Given the description of an element on the screen output the (x, y) to click on. 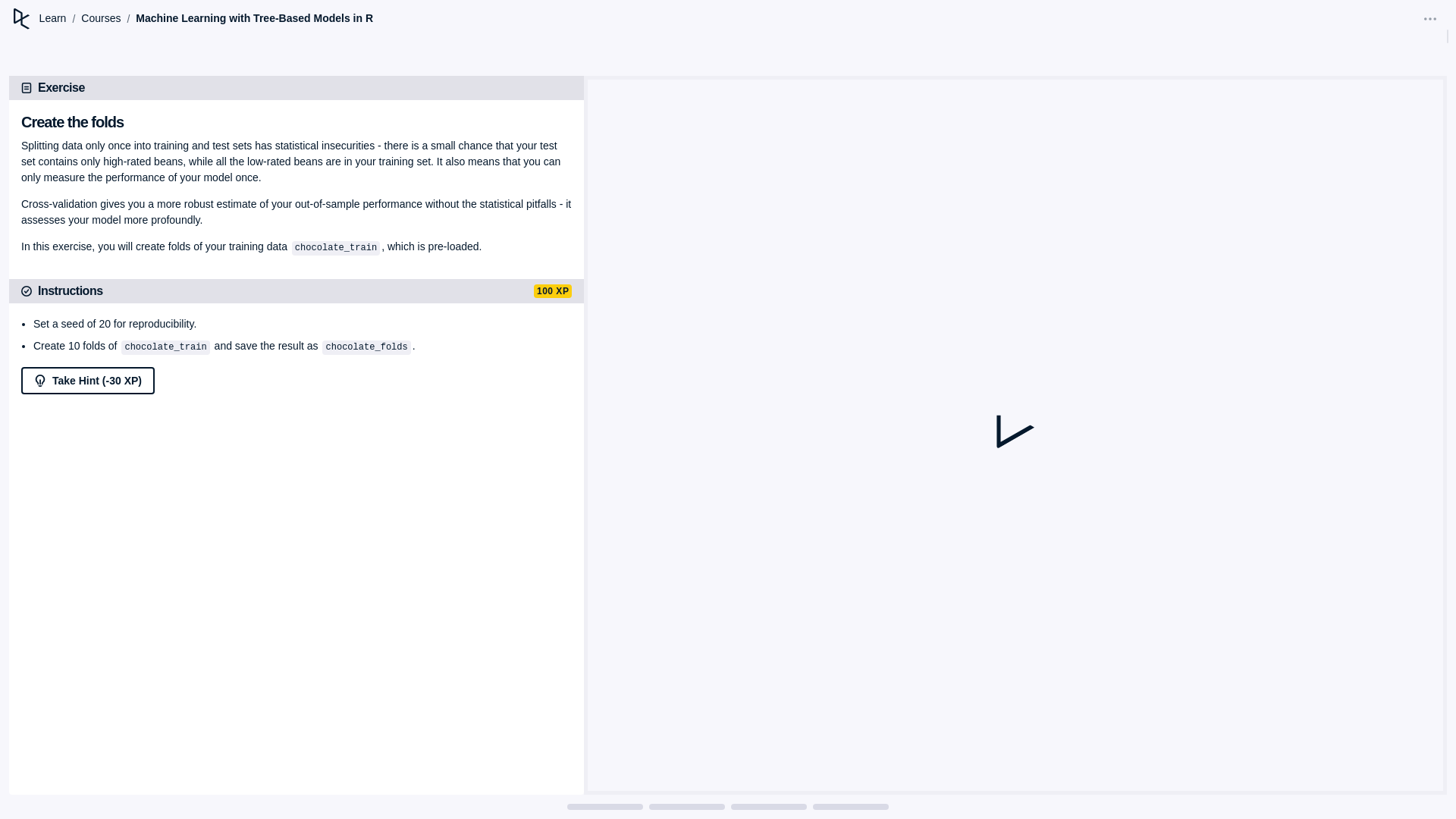
Machine Learning with Tree-Based Models in R (253, 18)
Courses (100, 18)
Learn (52, 18)
